Given the description of an element on the screen output the (x, y) to click on. 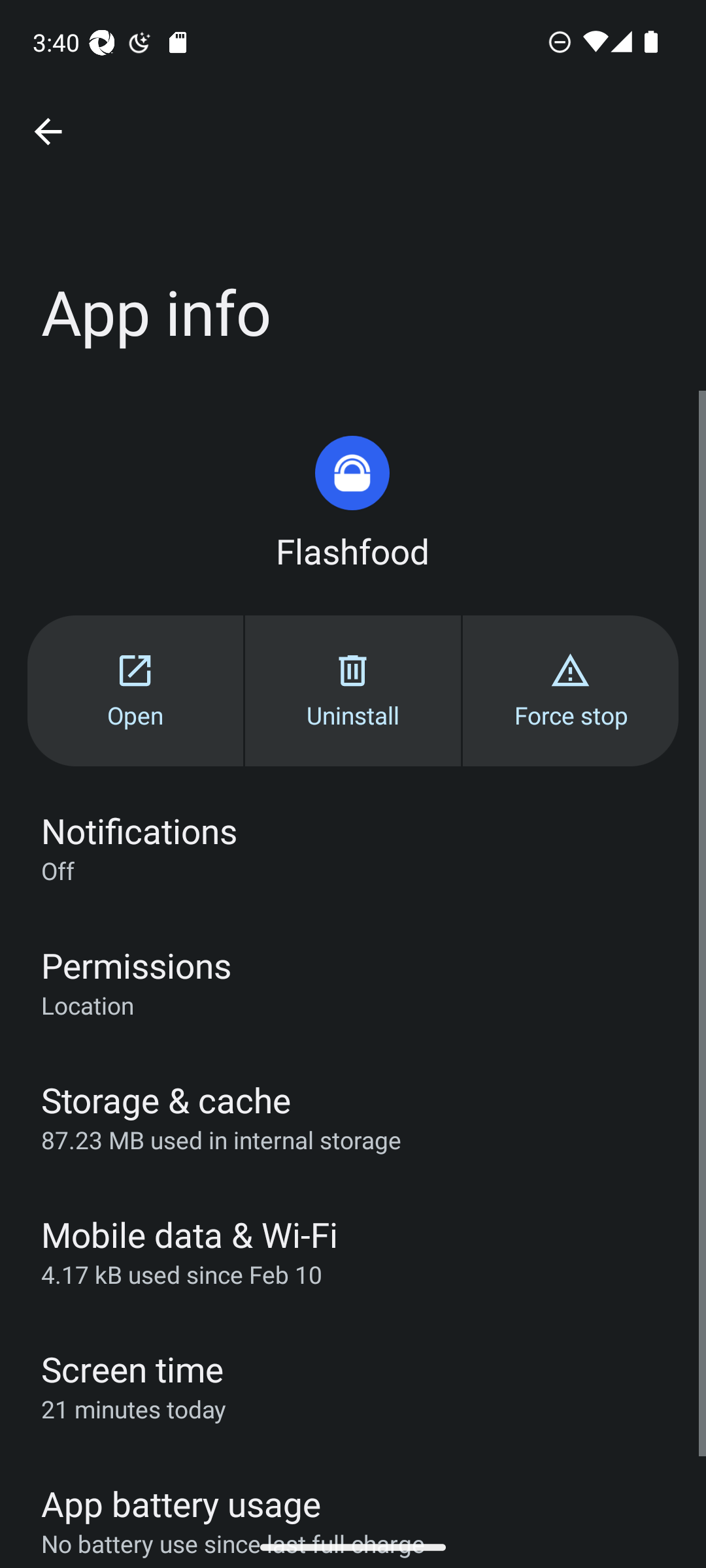
Navigate up (48, 131)
Open (134, 690)
Uninstall (352, 690)
Force stop (570, 690)
Notifications Off (353, 847)
Permissions Location (353, 981)
Storage & cache 87.23 MB used in internal storage (353, 1115)
Mobile data & Wi‑Fi 4.17 kB used since Feb 10 (353, 1250)
Screen time 21 minutes today (353, 1385)
App battery usage (353, 1490)
